Given the description of an element on the screen output the (x, y) to click on. 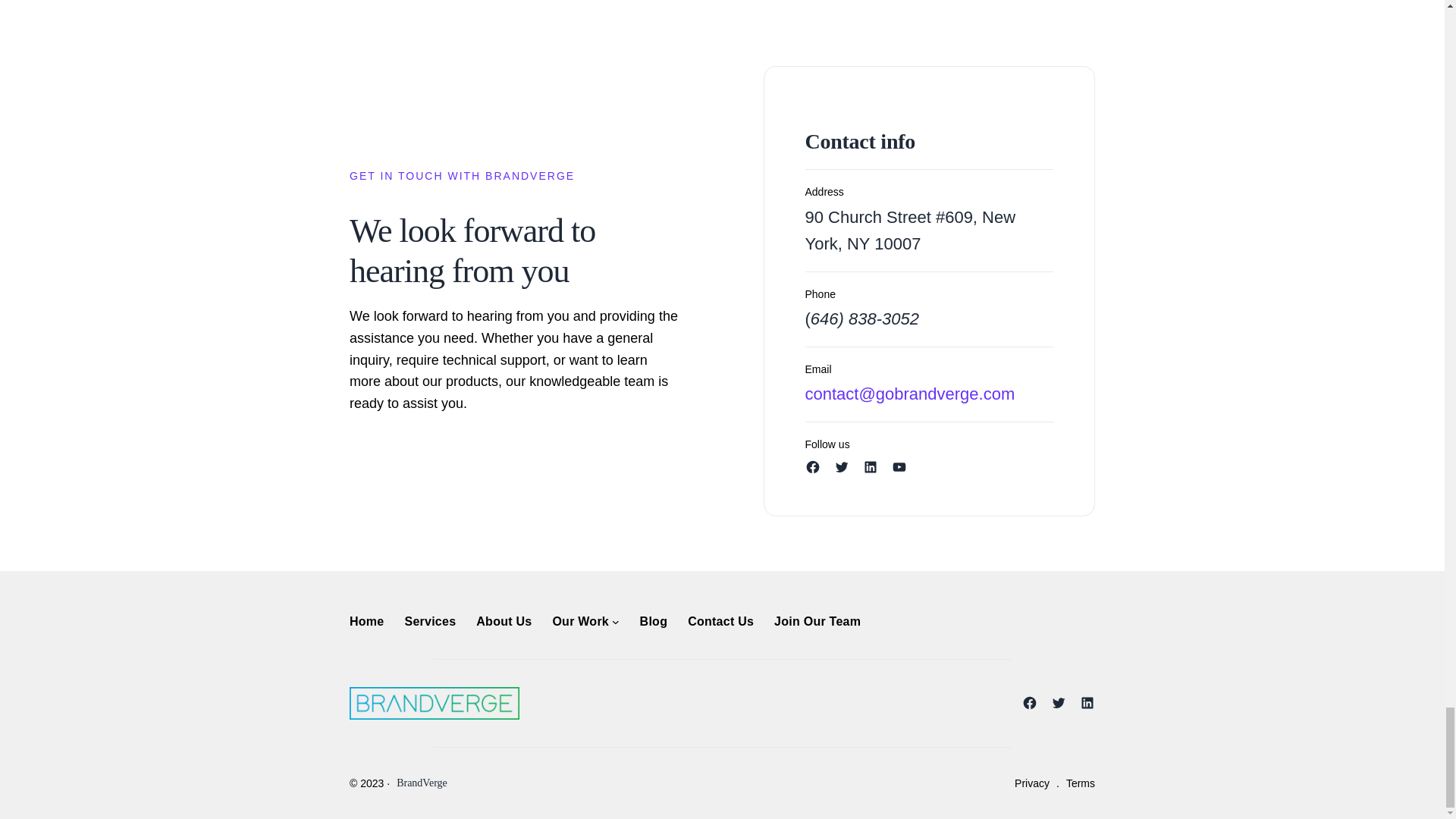
Facebook (813, 467)
Twitter (841, 467)
Our Work (579, 621)
Services (429, 621)
YouTube (899, 467)
About Us (503, 621)
Home (366, 621)
LinkedIn (870, 467)
